Given the description of an element on the screen output the (x, y) to click on. 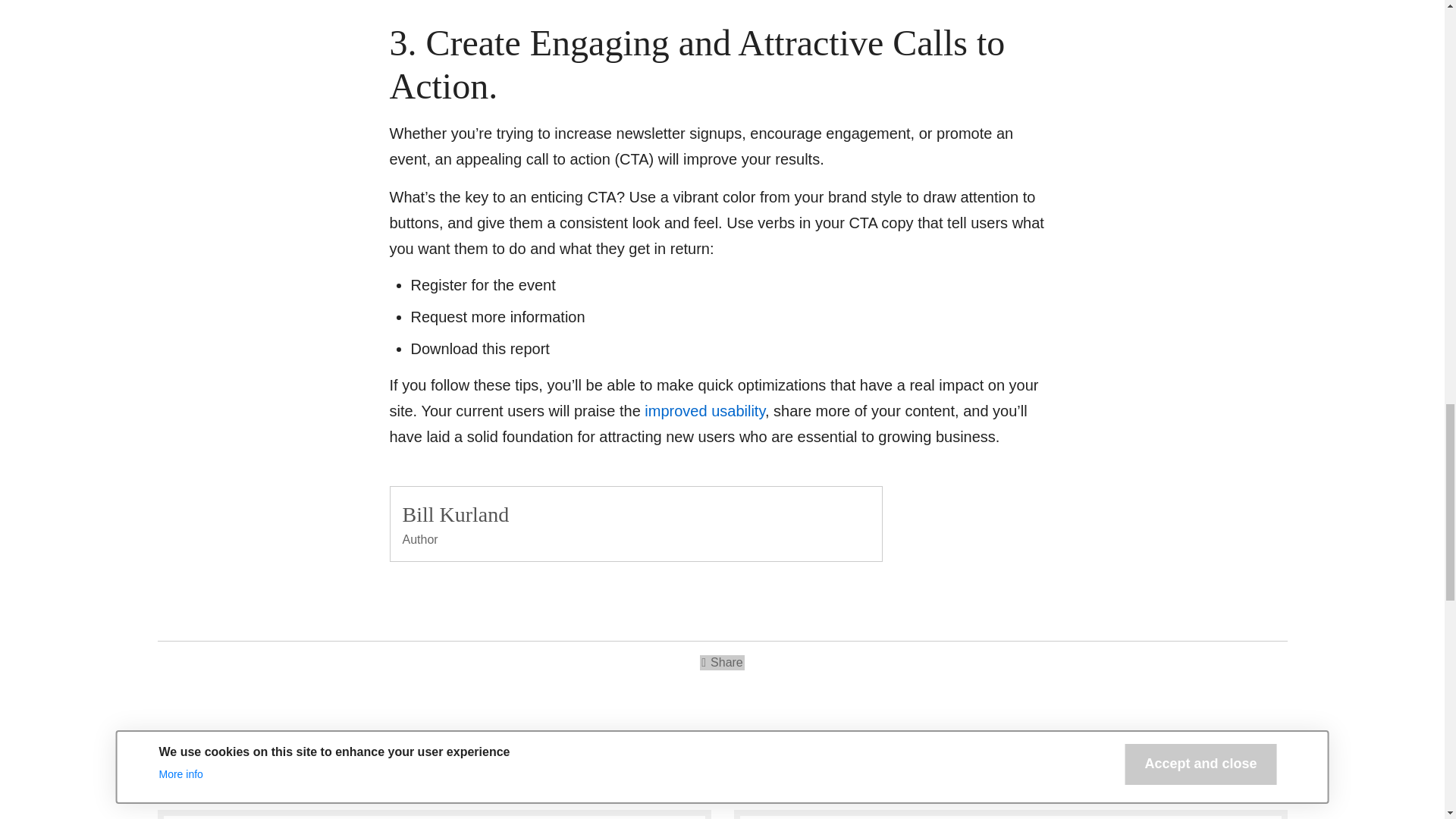
Usability Testing 101: 5 Commonly Asked Questions (705, 410)
improved usability (705, 410)
